Given the description of an element on the screen output the (x, y) to click on. 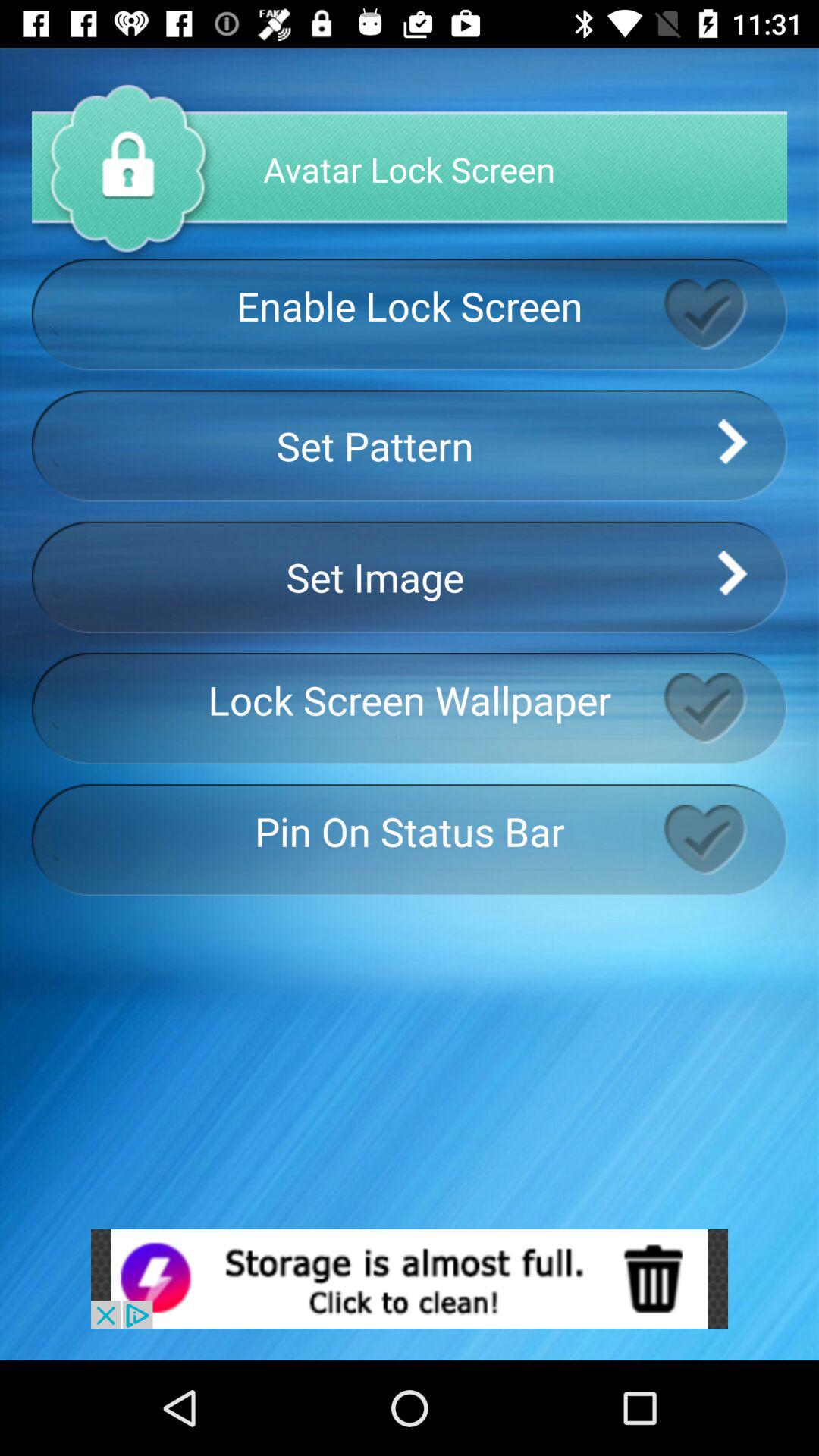
set lock screen wallpaper (725, 708)
